Given the description of an element on the screen output the (x, y) to click on. 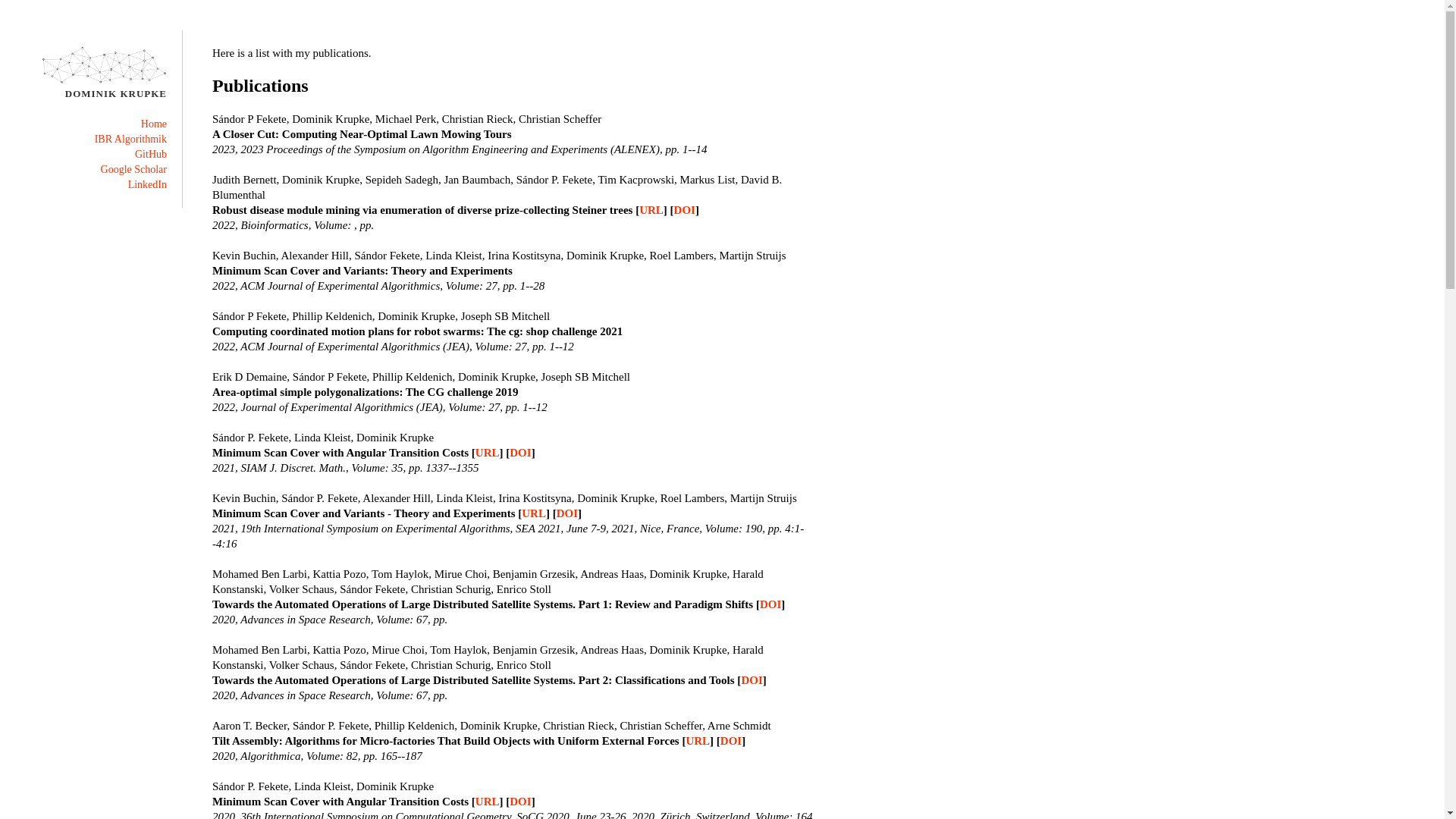
DOI Element type: text (519, 801)
URL Element type: text (487, 801)
URL Element type: text (651, 209)
Google Scholar Element type: text (133, 169)
DOI Element type: text (519, 452)
DOI Element type: text (566, 513)
LinkedIn Element type: text (147, 184)
DOI Element type: text (770, 604)
URL Element type: text (697, 740)
DOI Element type: text (730, 740)
Home Element type: text (153, 123)
DOI Element type: text (751, 680)
URL Element type: text (533, 513)
URL Element type: text (487, 452)
DOI Element type: text (684, 209)
GitHub Element type: text (150, 154)
IBR Algorithmik Element type: text (130, 138)
